Given the description of an element on the screen output the (x, y) to click on. 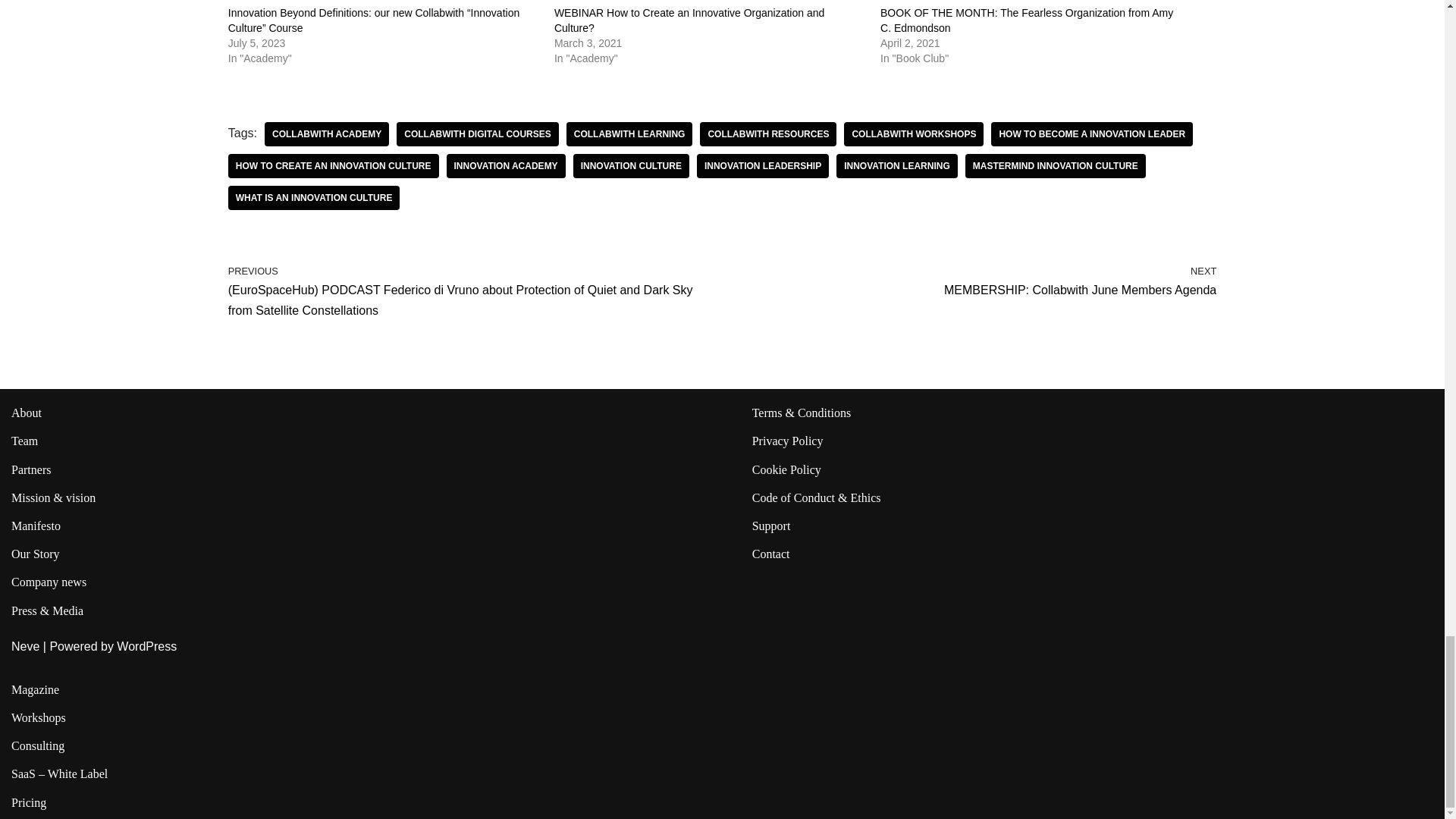
collabwith learning (629, 134)
collabwith resources (767, 134)
HOW TO CREATE AN INNOVATION CULTURE (333, 165)
HOW TO BECOME A INNOVATION LEADER (1091, 134)
COLLABWITH ACADEMY (326, 134)
INNOVATION ACADEMY (506, 165)
COLLABWITH LEARNING (629, 134)
